Given the description of an element on the screen output the (x, y) to click on. 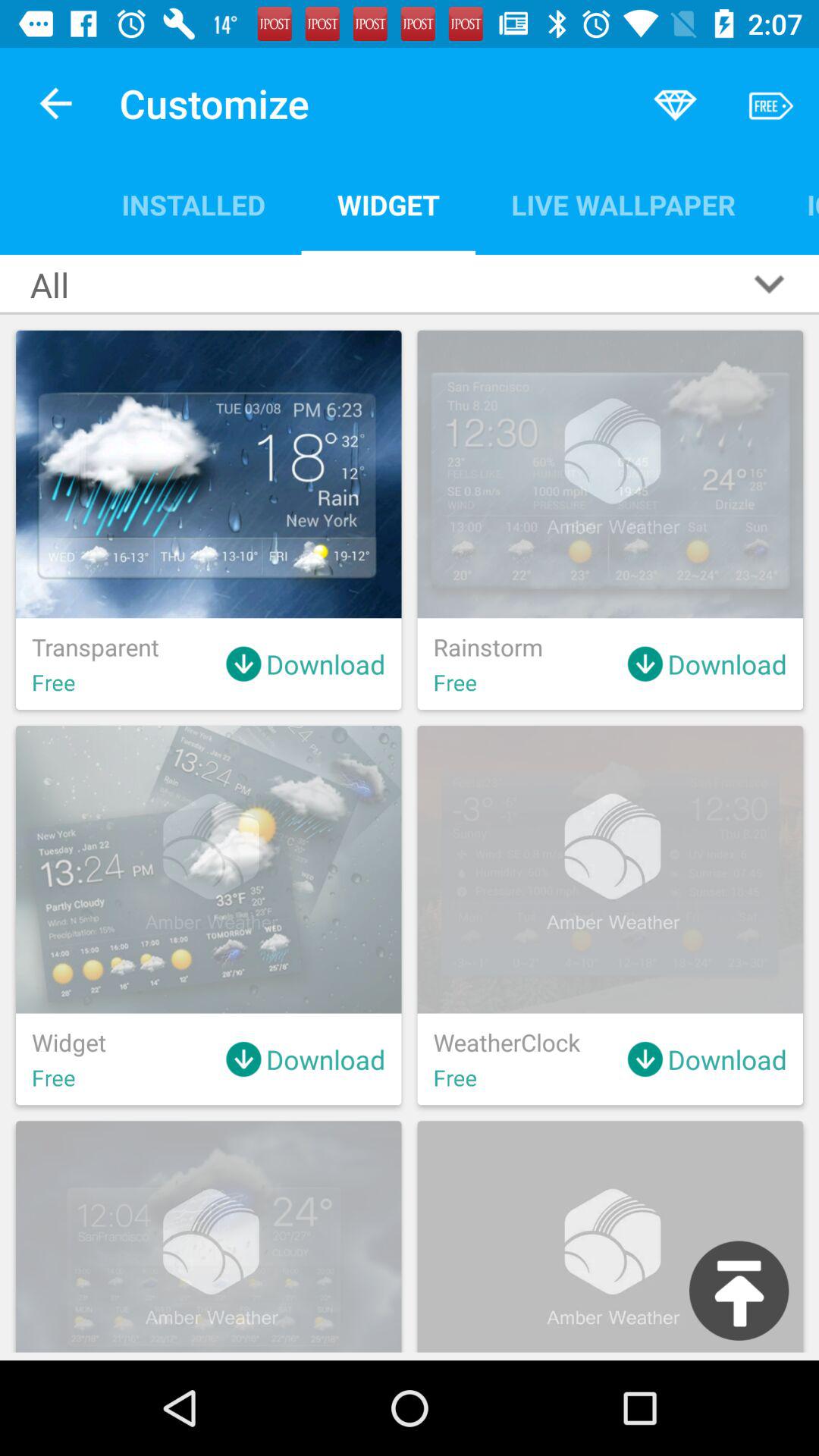
turn off the item next to the customize item (55, 103)
